Given the description of an element on the screen output the (x, y) to click on. 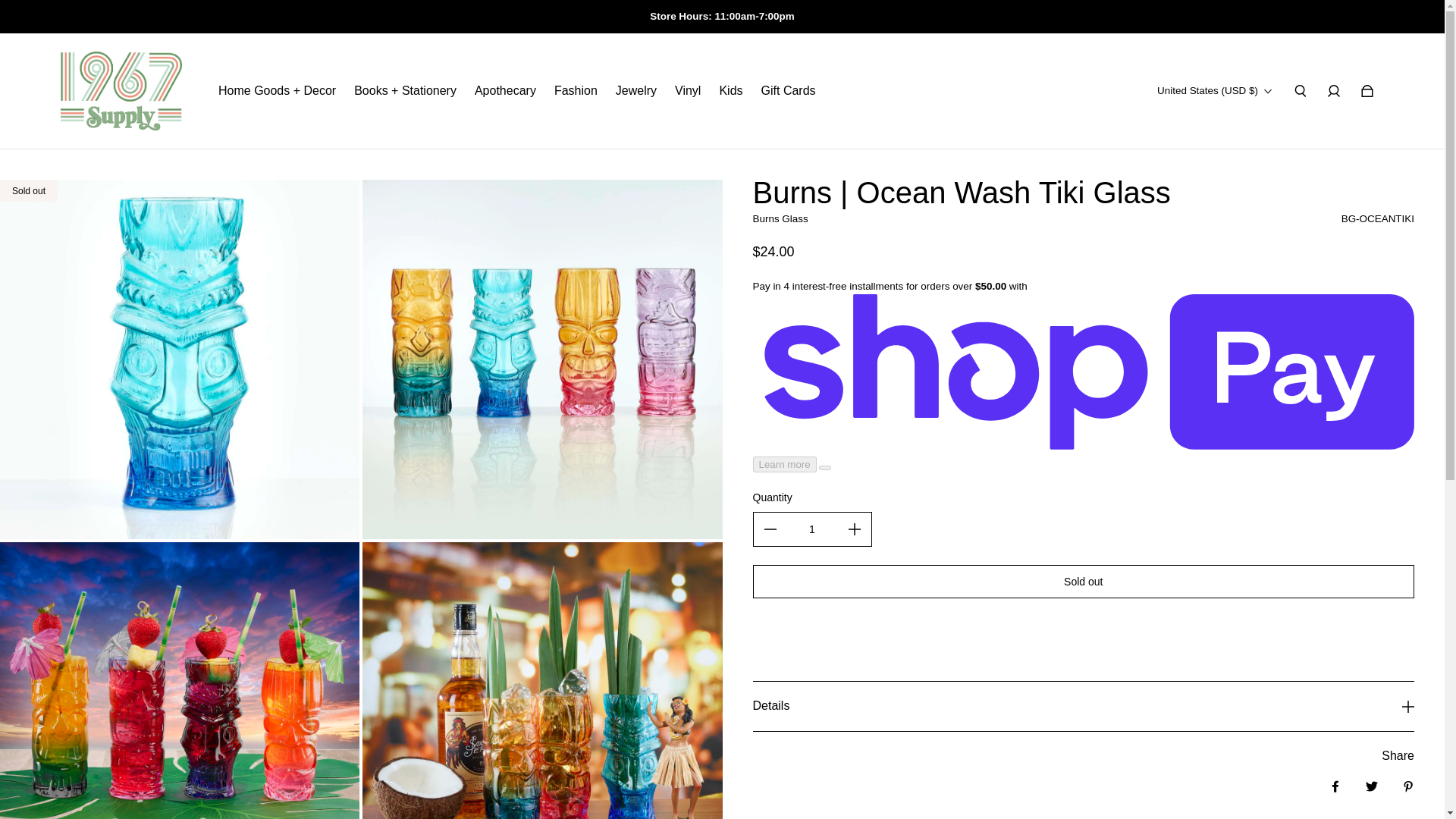
Vinyl (687, 91)
Jewelry (635, 91)
Apothecary (504, 91)
Fashion (575, 91)
1 (812, 529)
Kids (730, 91)
